Given the description of an element on the screen output the (x, y) to click on. 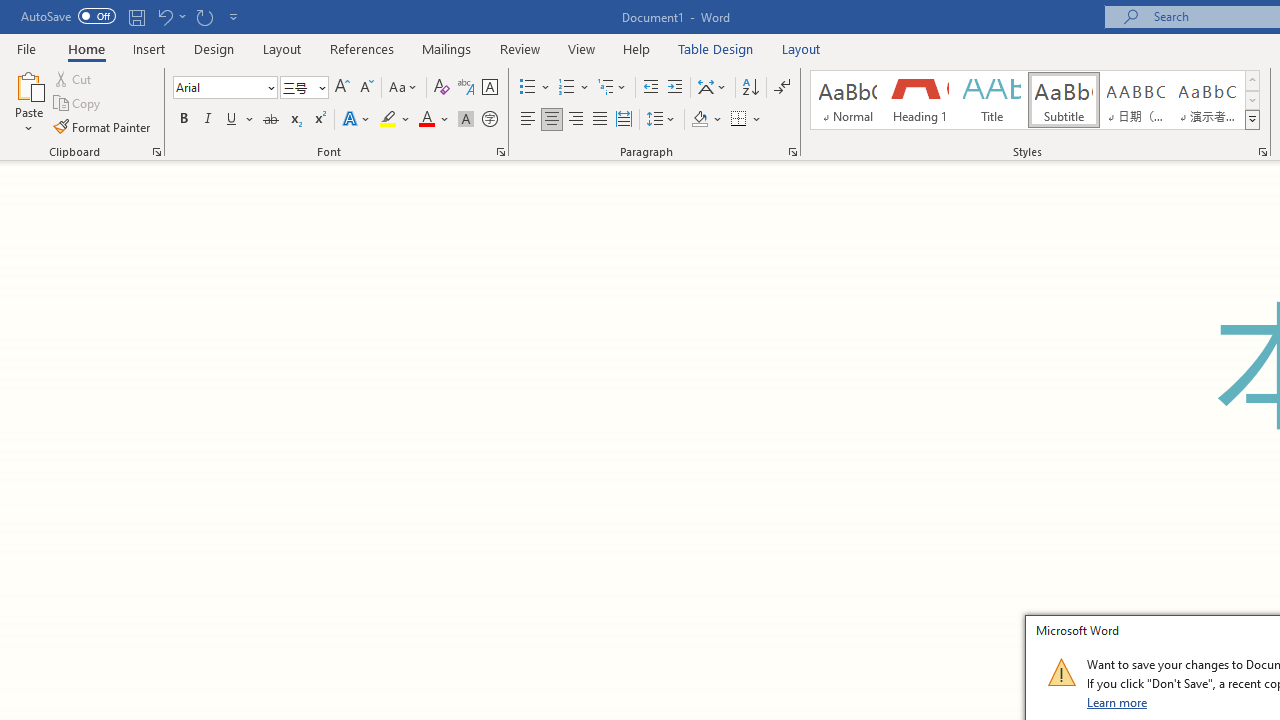
Undo Paste (164, 15)
